Given the description of an element on the screen output the (x, y) to click on. 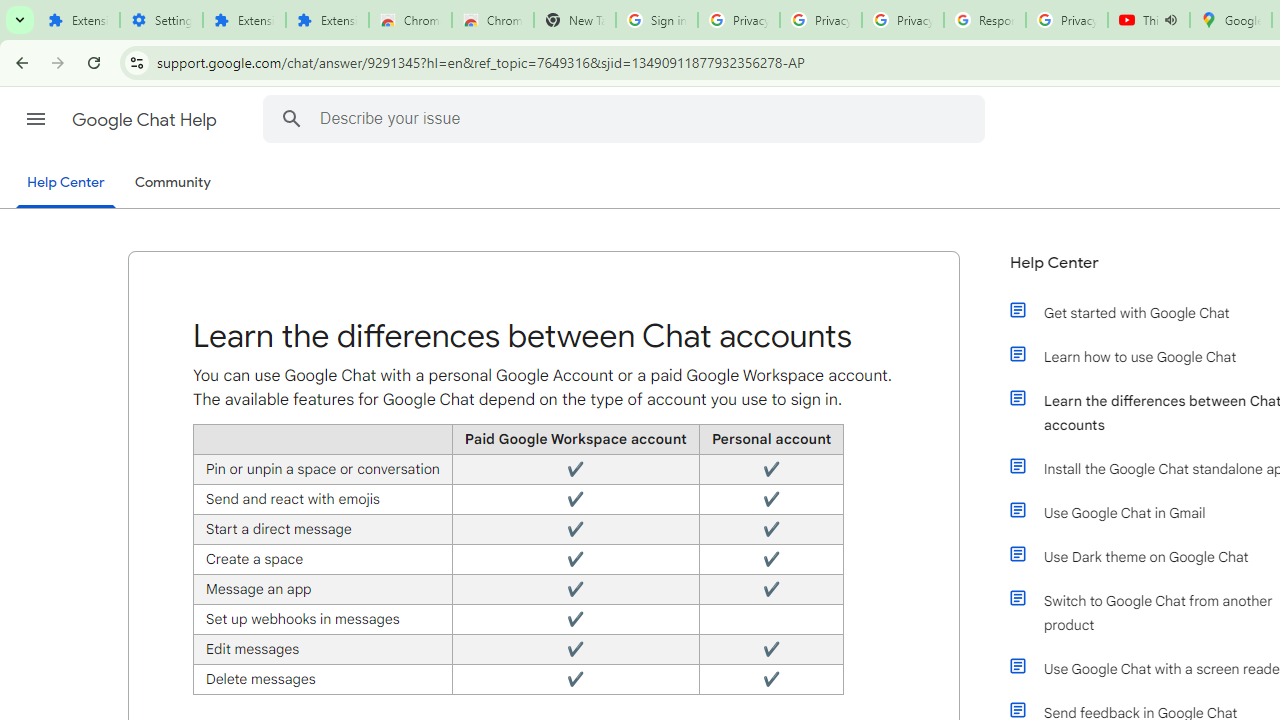
Extensions (78, 20)
Help Center (65, 183)
Sign in - Google Accounts (656, 20)
Search Help Center (291, 118)
Extensions (244, 20)
